Given the description of an element on the screen output the (x, y) to click on. 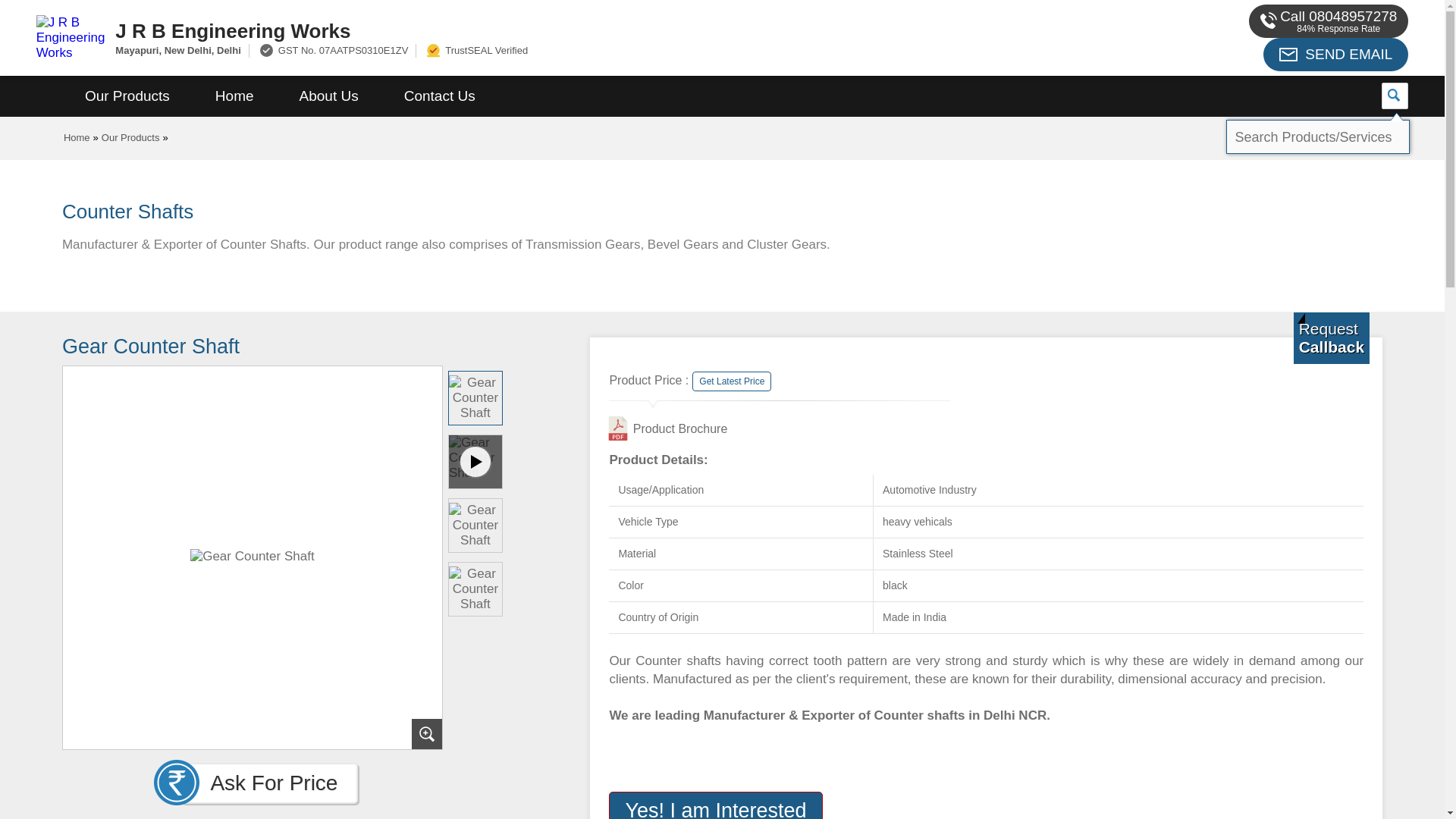
Our Products (130, 137)
About Us (328, 96)
Get a Call from us (1332, 337)
Contact Us (439, 96)
J R B Engineering Works (552, 31)
Home (234, 96)
Home (77, 137)
Our Products (127, 96)
